Given the description of an element on the screen output the (x, y) to click on. 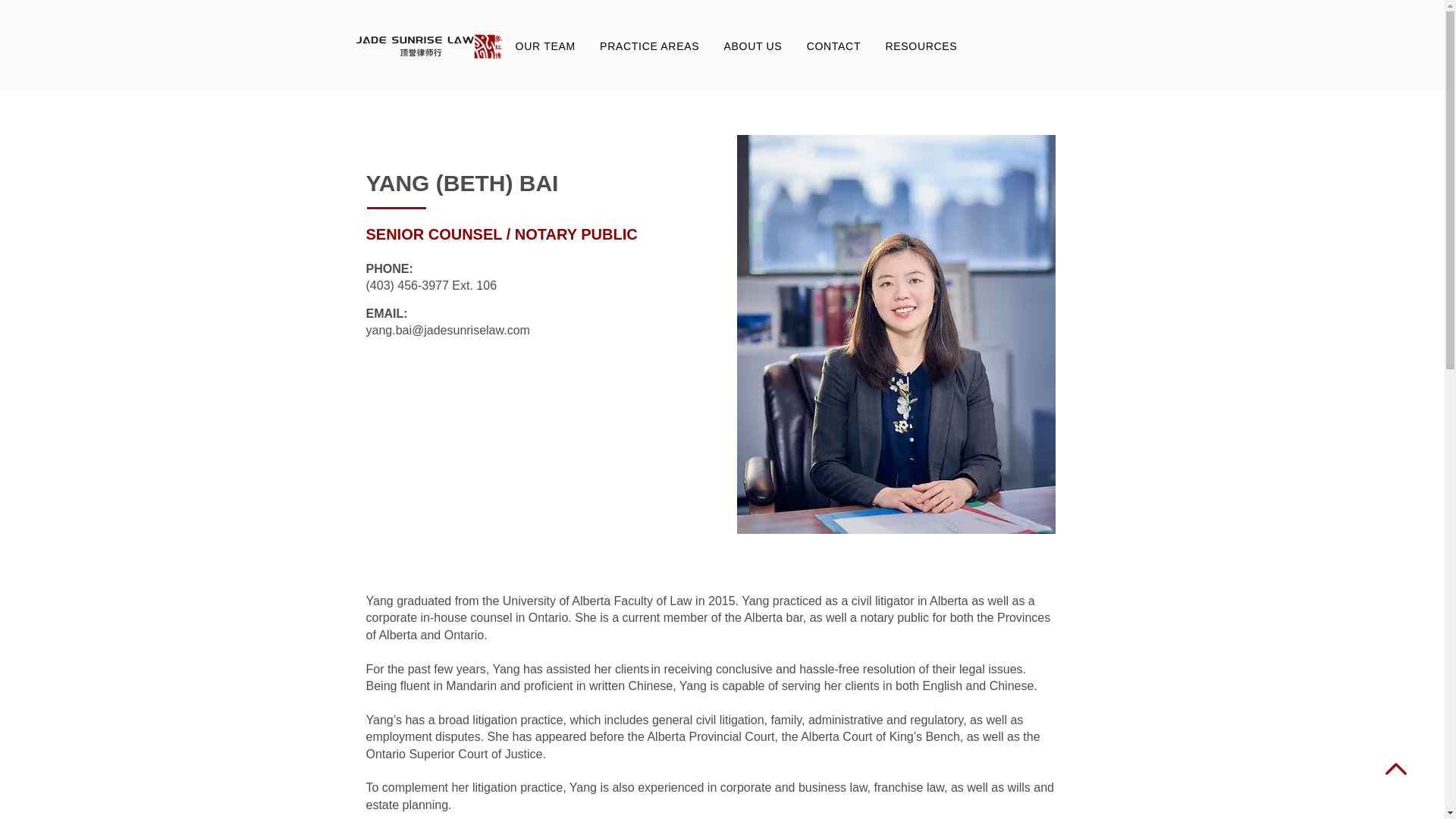
RESOURCES (920, 46)
ABOUT US (752, 46)
PRACTICE AREAS (649, 46)
CONTACT (833, 46)
Office New Logo.png (429, 45)
OUR TEAM (545, 46)
